Given the description of an element on the screen output the (x, y) to click on. 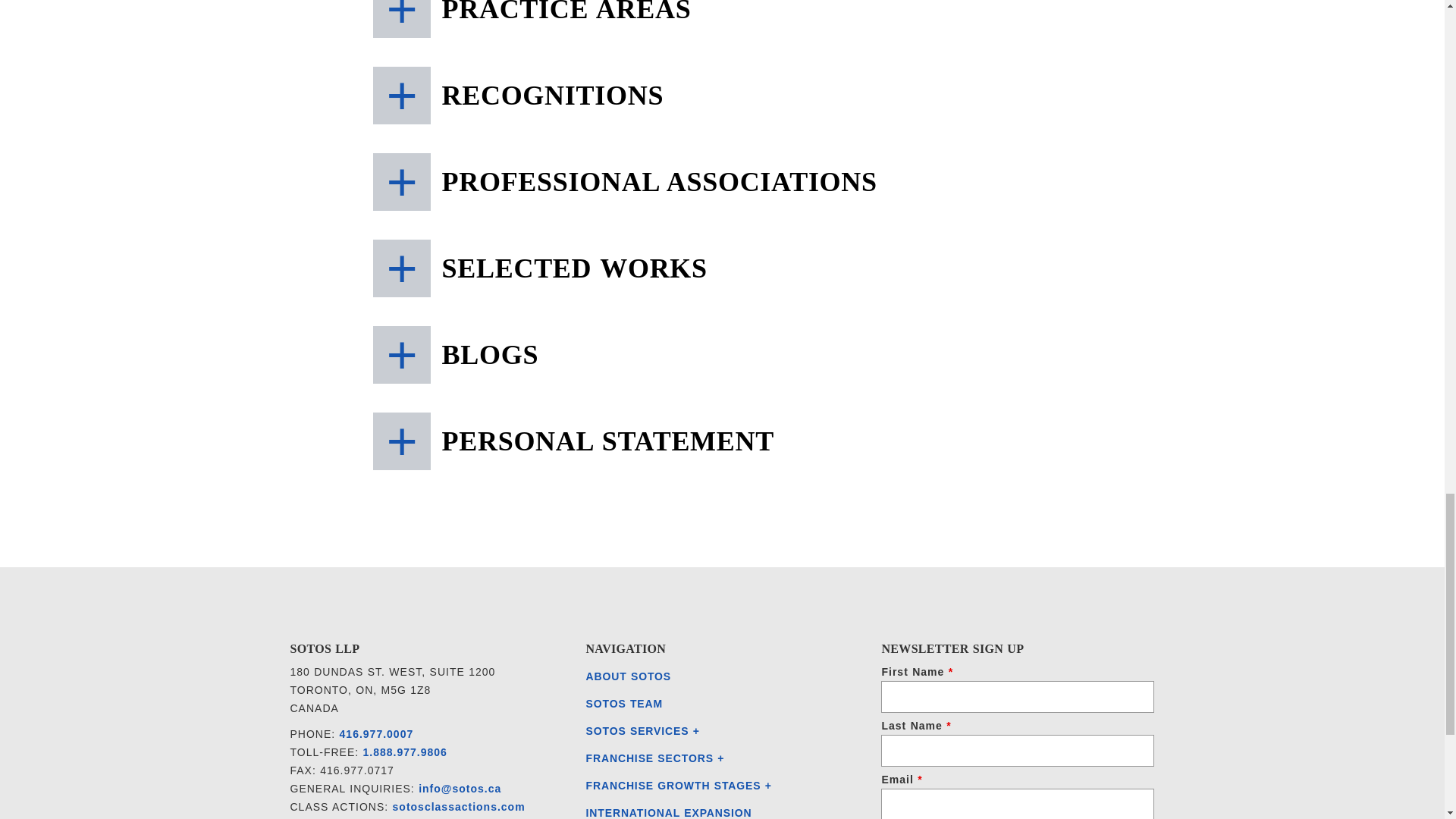
Sotos Team (623, 703)
About Sotos (628, 676)
Sotos Services (639, 730)
